Given the description of an element on the screen output the (x, y) to click on. 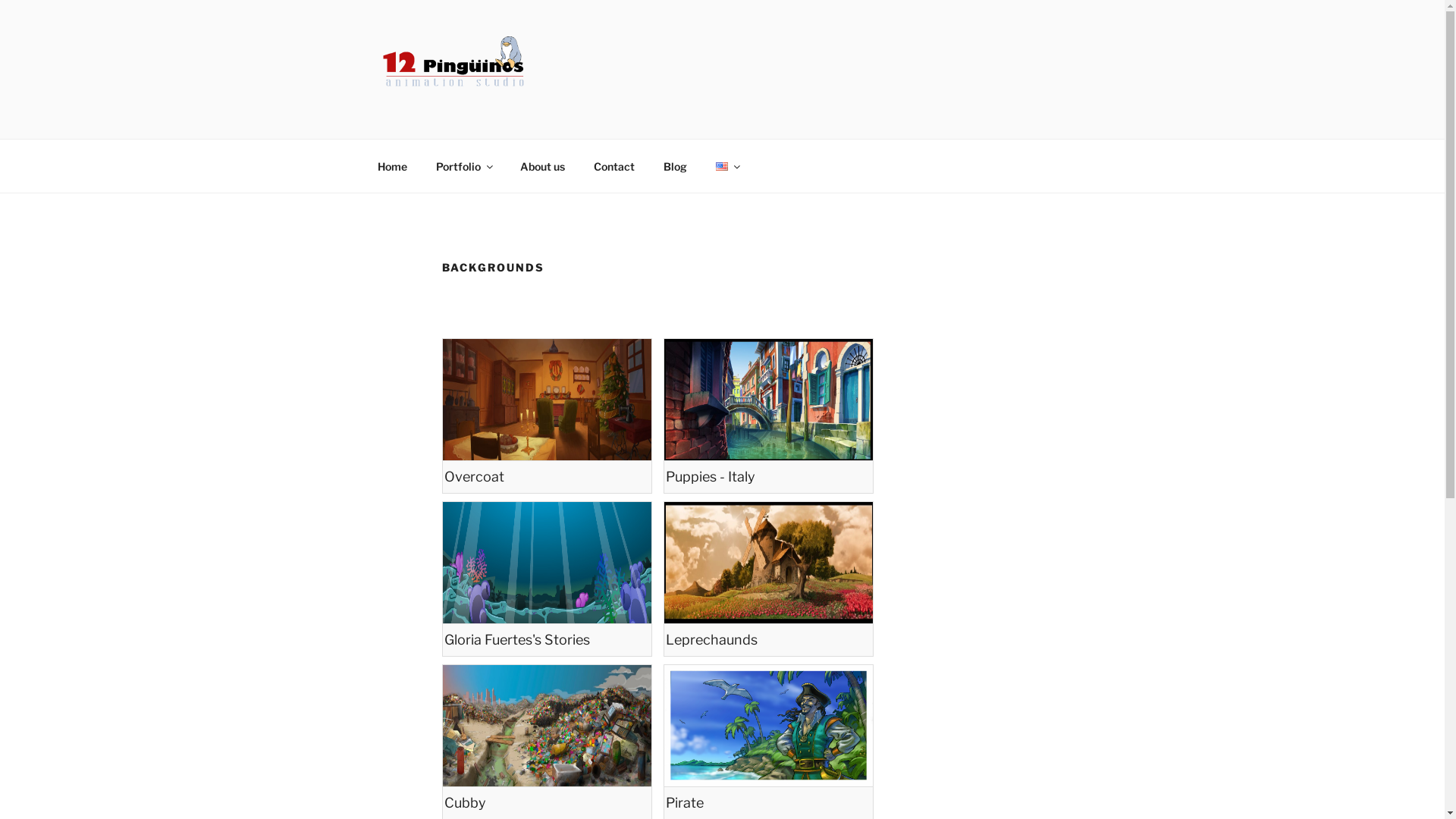
About us Element type: text (541, 165)
Contact Element type: text (614, 165)
Home Element type: text (392, 165)
Skip to content Element type: text (0, 0)
Portfolio Element type: text (464, 165)
Blog Element type: text (675, 165)
English Element type: hover (721, 166)
